Given the description of an element on the screen output the (x, y) to click on. 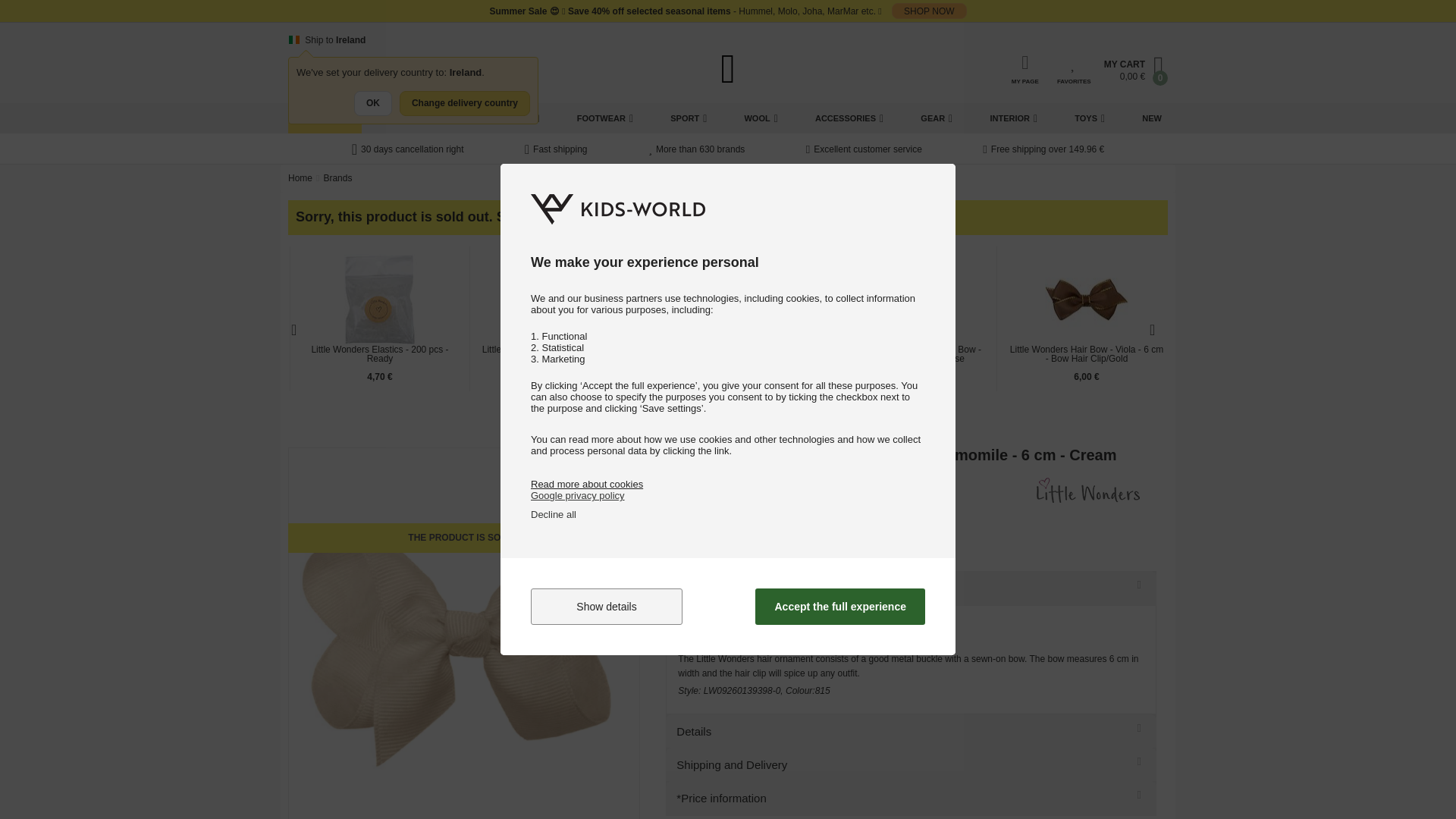
Decline all (553, 514)
Accept the full experience (839, 606)
Show details (606, 606)
Google privacy policy (577, 495)
Read more about cookies (587, 483)
